Given the description of an element on the screen output the (x, y) to click on. 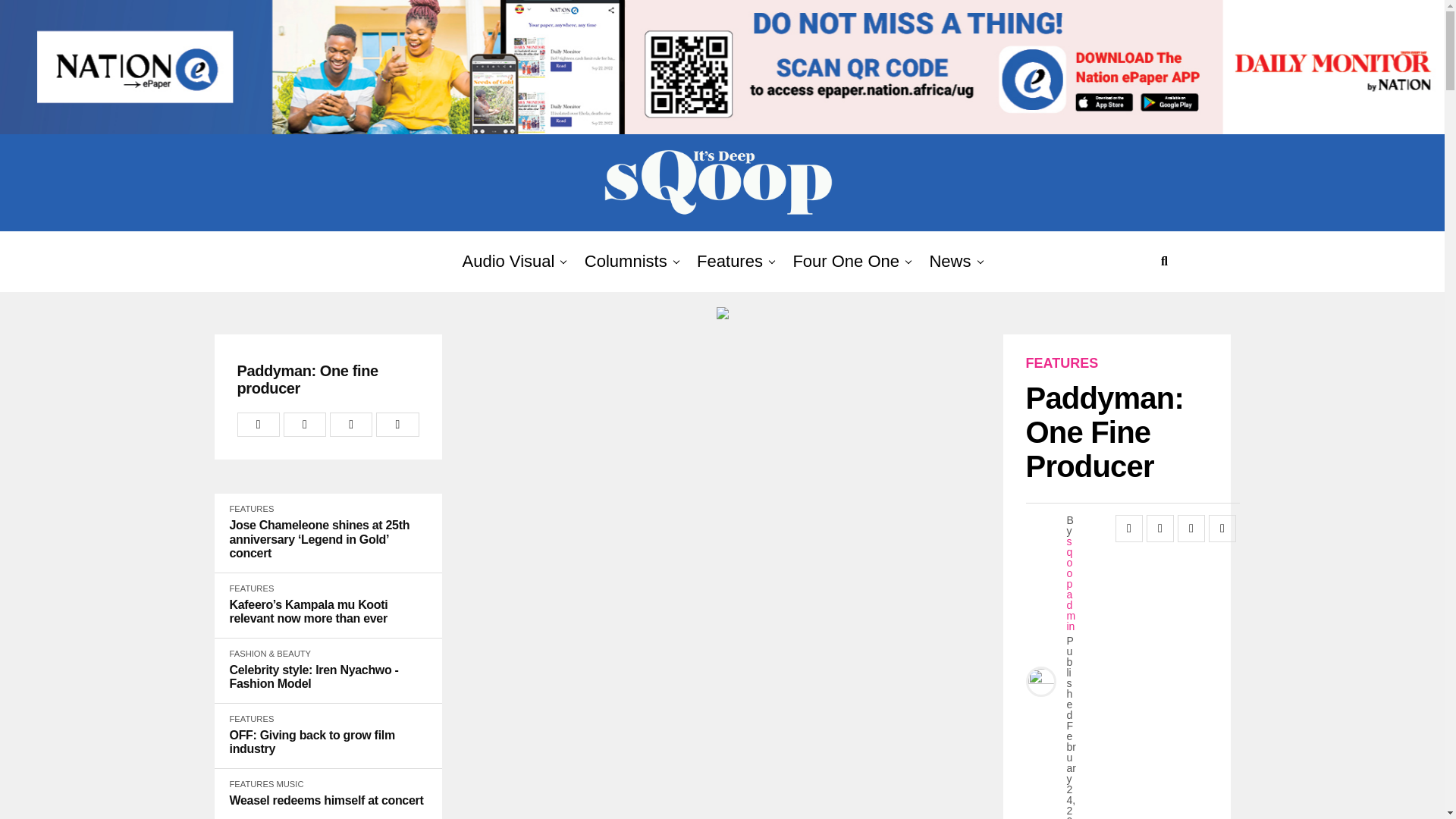
Share on Facebook (257, 424)
Columnists (625, 260)
Share on Flipboard (351, 424)
Tweet This Post (304, 424)
Audio Visual (508, 260)
